Given the description of an element on the screen output the (x, y) to click on. 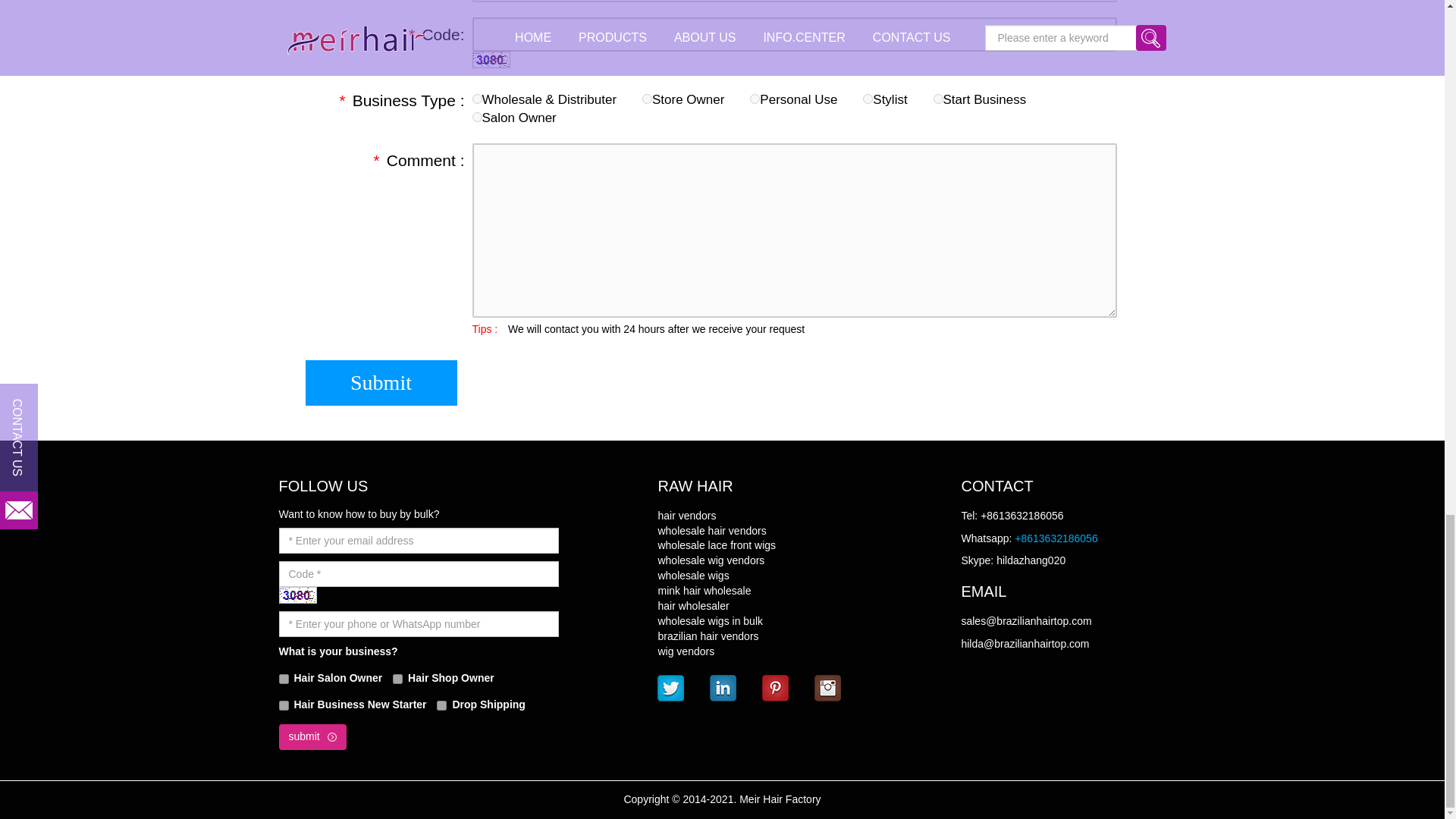
Store Owner (647, 99)
Drop Shipping (441, 705)
Salon Owner (476, 117)
Personal Use (754, 99)
Hair Saln Owner (283, 678)
Stylist (867, 99)
Hair Shop Owner (398, 678)
Start Business (938, 99)
Hair Business New Starter (283, 705)
